Given the description of an element on the screen output the (x, y) to click on. 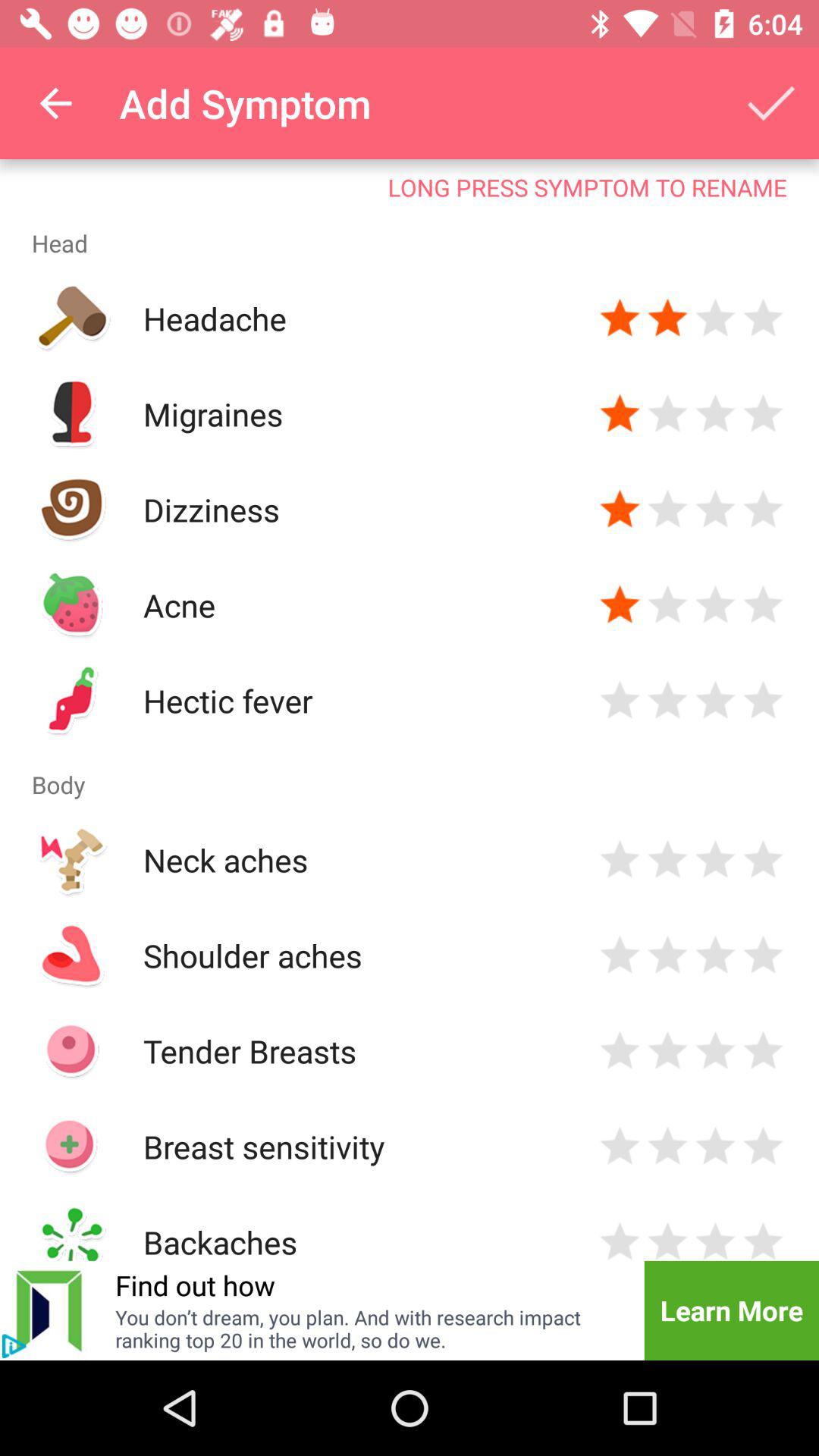
ratings (763, 413)
